Given the description of an element on the screen output the (x, y) to click on. 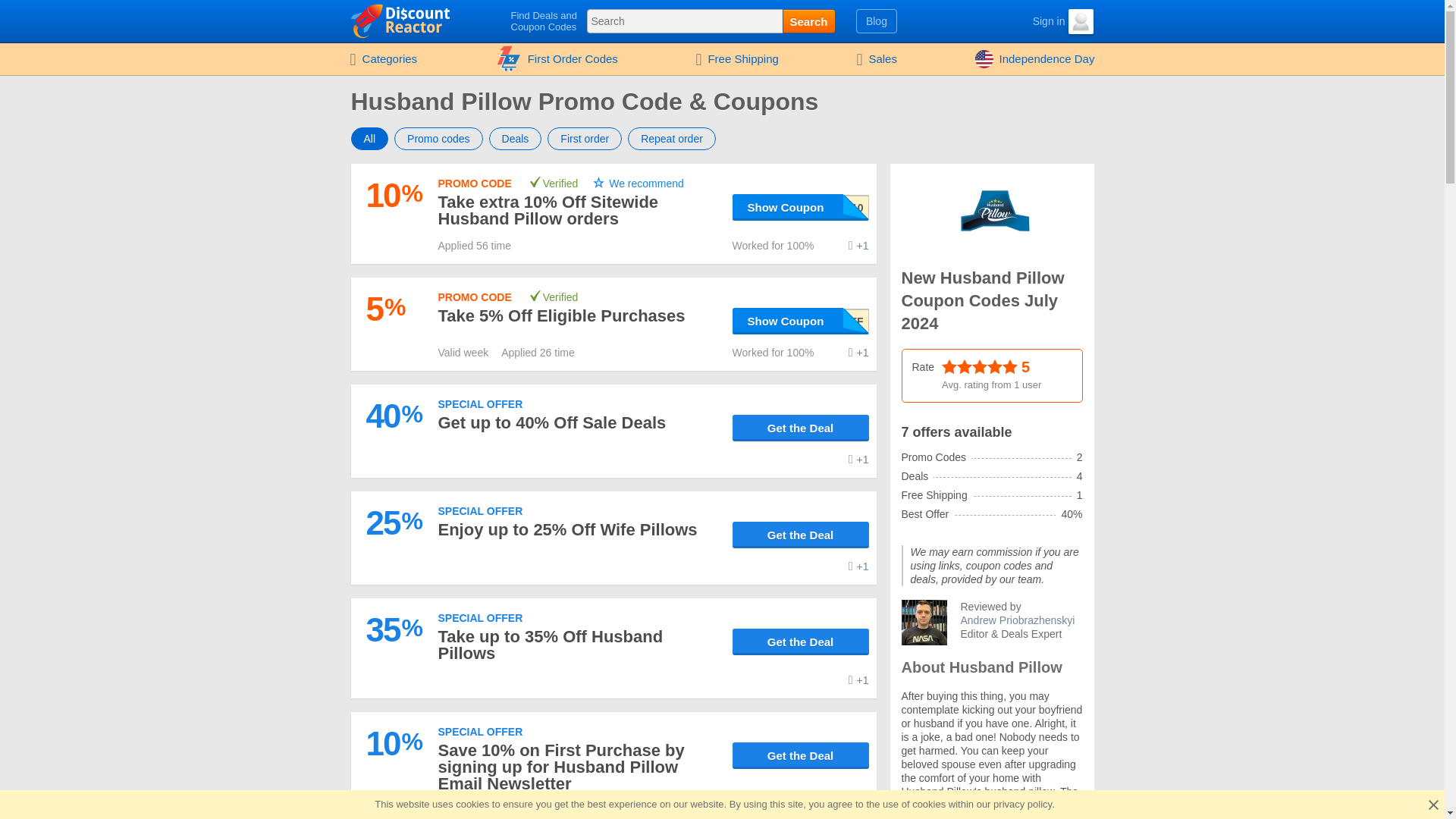
Show Coupon (800, 207)
Sales (876, 59)
Leave your comment  (858, 566)
Show Coupon (800, 207)
Get the Deal (800, 641)
Free Shipping (736, 59)
Leave your comment  (858, 680)
Leave your comment  (858, 245)
Leave your comment  (858, 459)
Leave your comment  (858, 810)
Get the Deal (800, 427)
Get the Deal (800, 534)
Blog (876, 20)
Independence Day (1034, 59)
Show Coupon (800, 320)
